Given the description of an element on the screen output the (x, y) to click on. 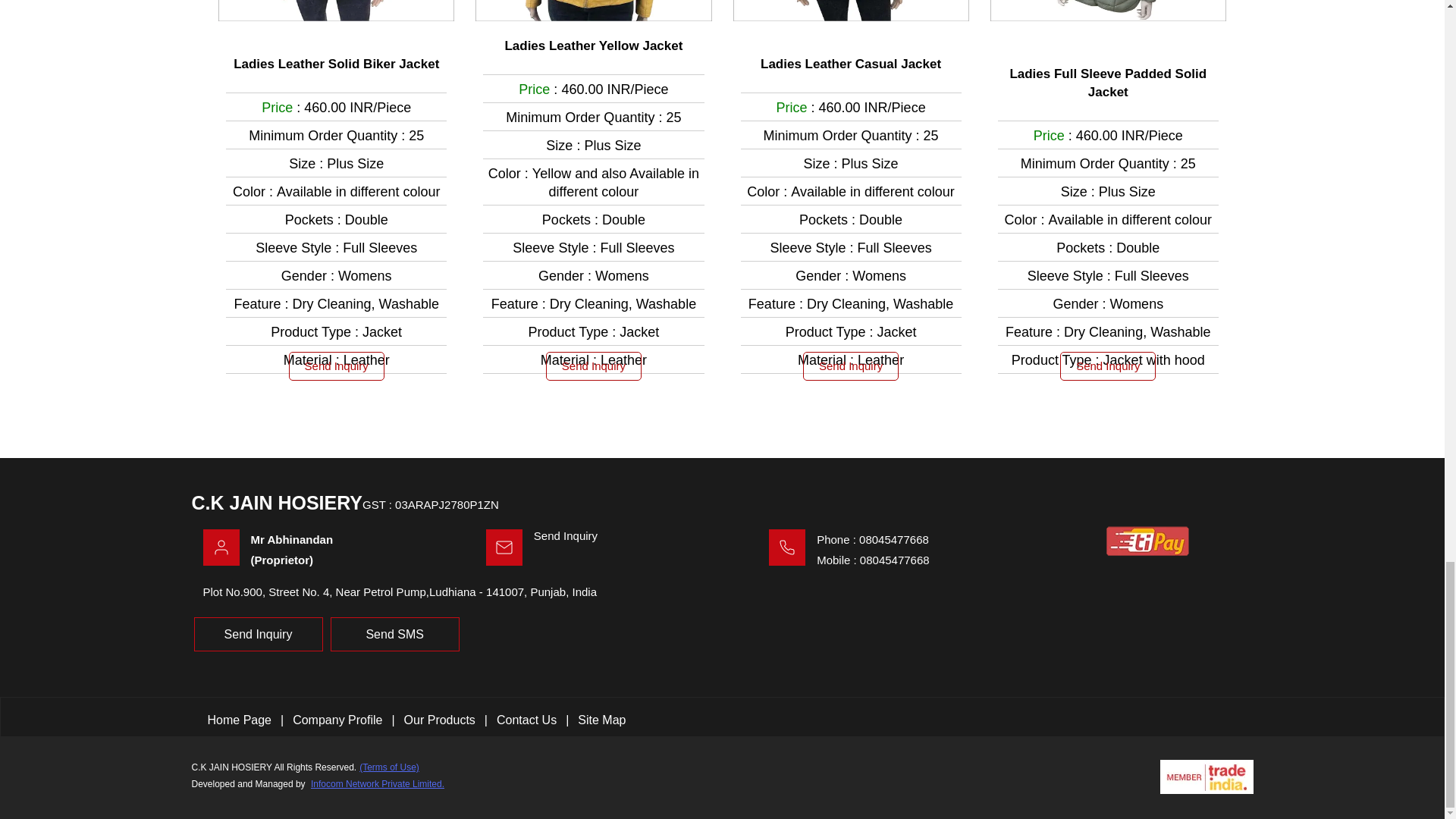
Send Inquiry (594, 366)
Ladies Leather Solid Biker Jacket (335, 64)
Ladies Leather Yellow Jacket (592, 45)
Send Inquiry (850, 366)
Ladies Leather Casual Jacket (850, 64)
Send Inquiry (336, 366)
Send Inquiry (1107, 366)
Ladies Full Sleeve Padded Solid Jacket (1107, 83)
Send SMS (395, 634)
Send Inquiry (257, 634)
